Given the description of an element on the screen output the (x, y) to click on. 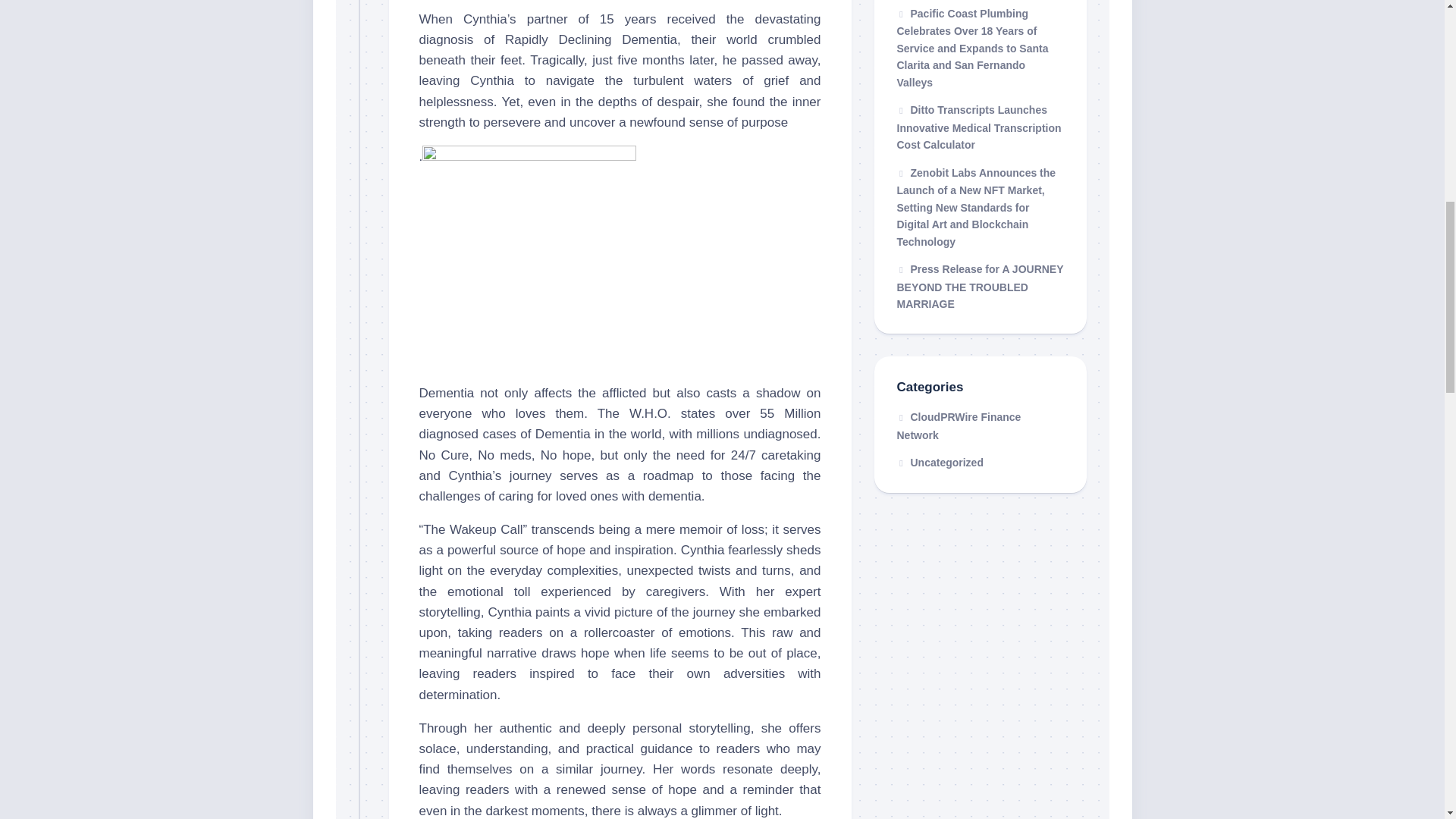
Press Release for A JOURNEY BEYOND THE TROUBLED MARRIAGE (979, 286)
CloudPRWire Finance Network (958, 426)
Uncategorized (939, 462)
